Given the description of an element on the screen output the (x, y) to click on. 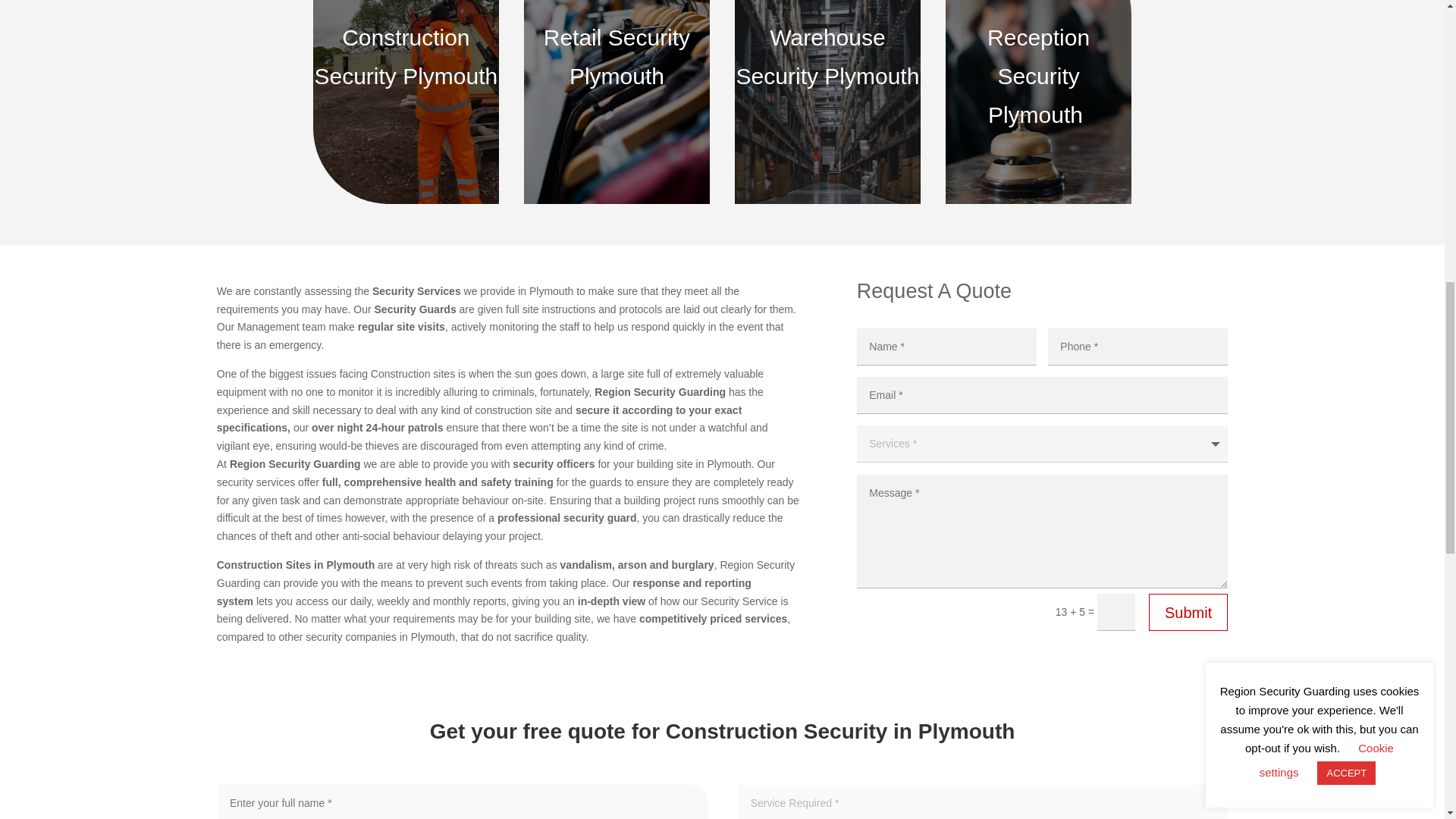
Only numbers allowed.Maximum length: 11 characters. (1137, 346)
